Given the description of an element on the screen output the (x, y) to click on. 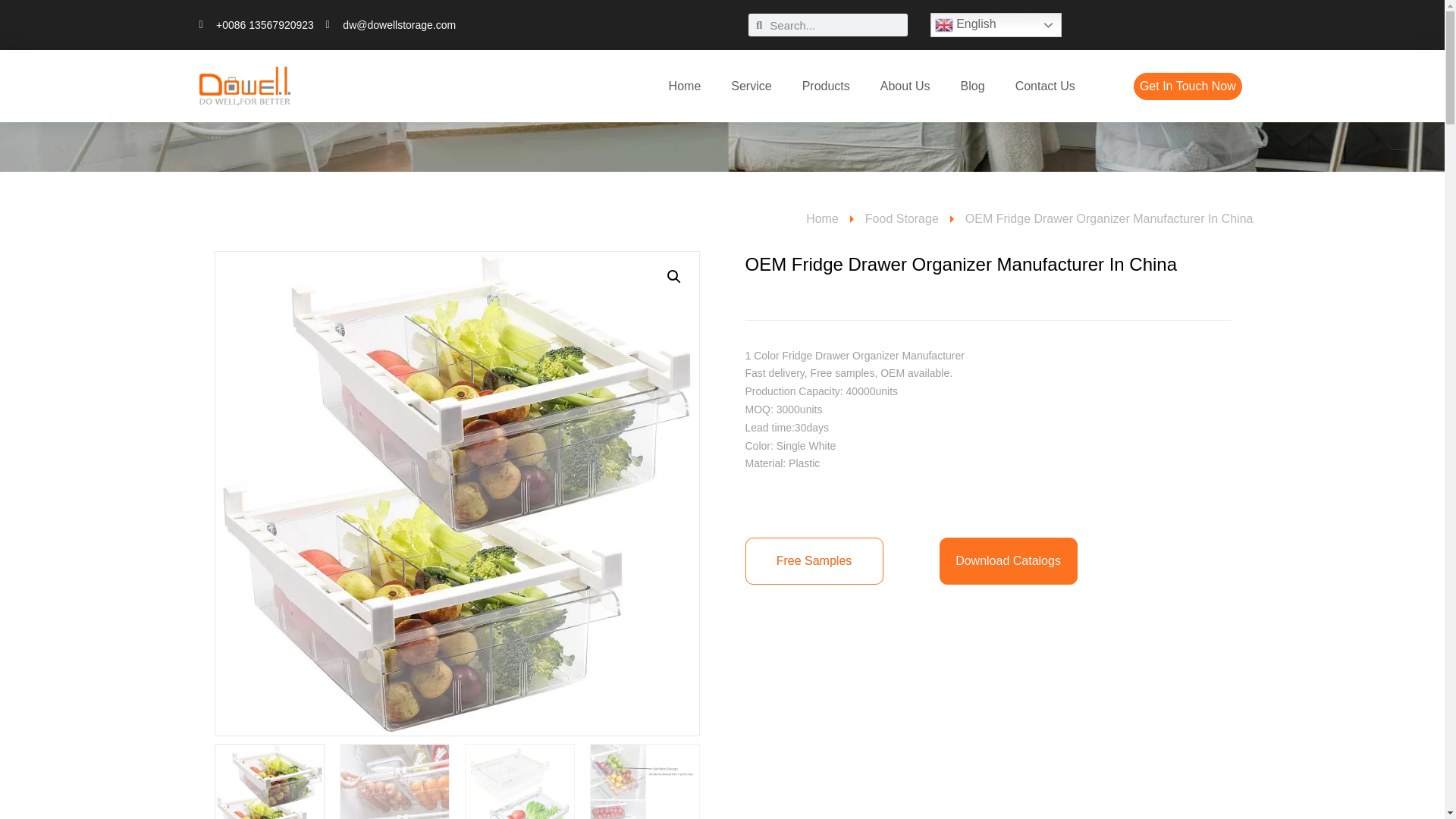
Products (825, 86)
Home (685, 86)
English (995, 24)
Service (750, 86)
